Given the description of an element on the screen output the (x, y) to click on. 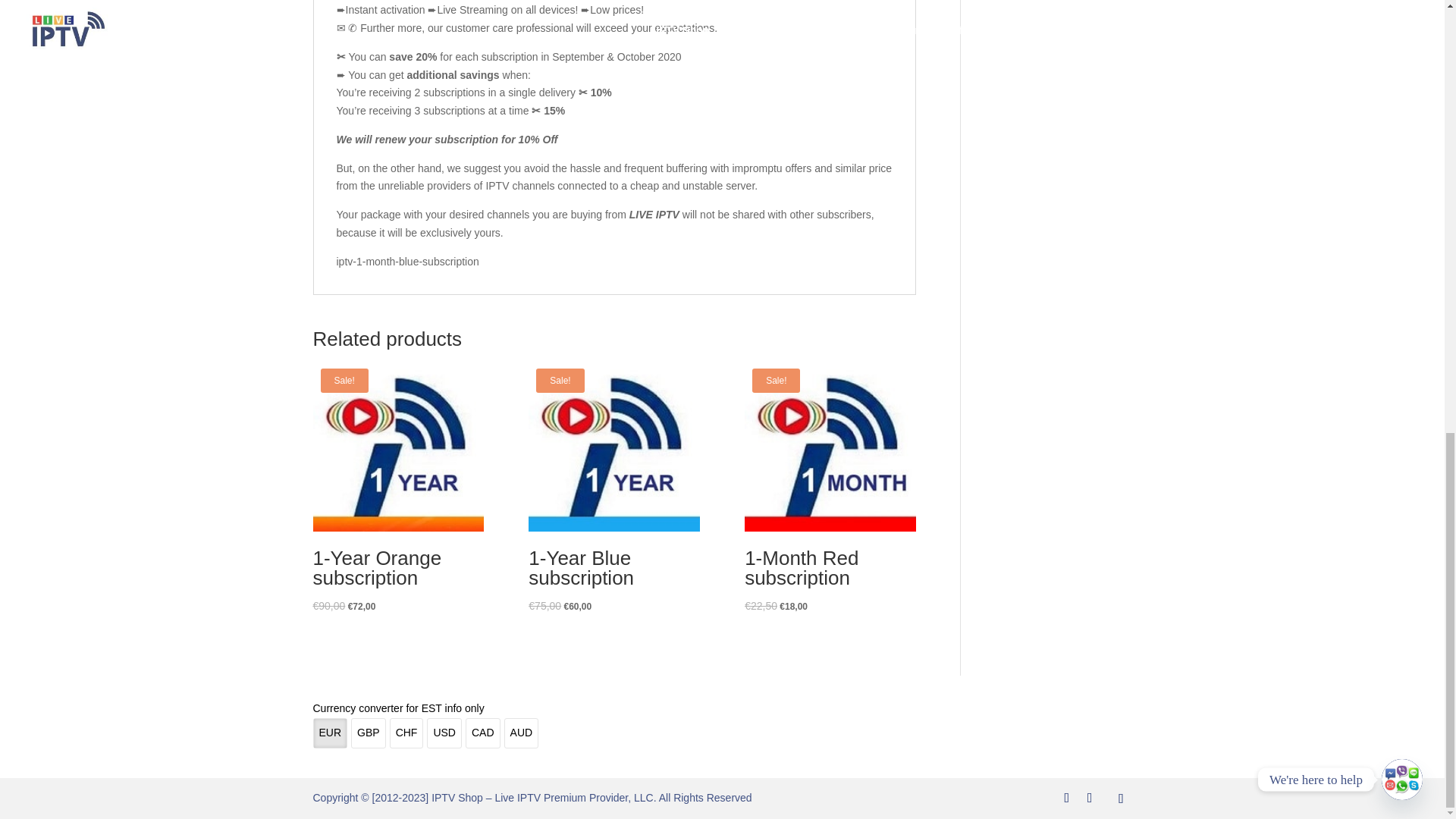
Original price:18 (793, 606)
Original price:22.5 (760, 605)
Original price:72 (361, 606)
Original price:90 (329, 605)
Original price:60 (578, 606)
Original price:75 (544, 605)
